Given the description of an element on the screen output the (x, y) to click on. 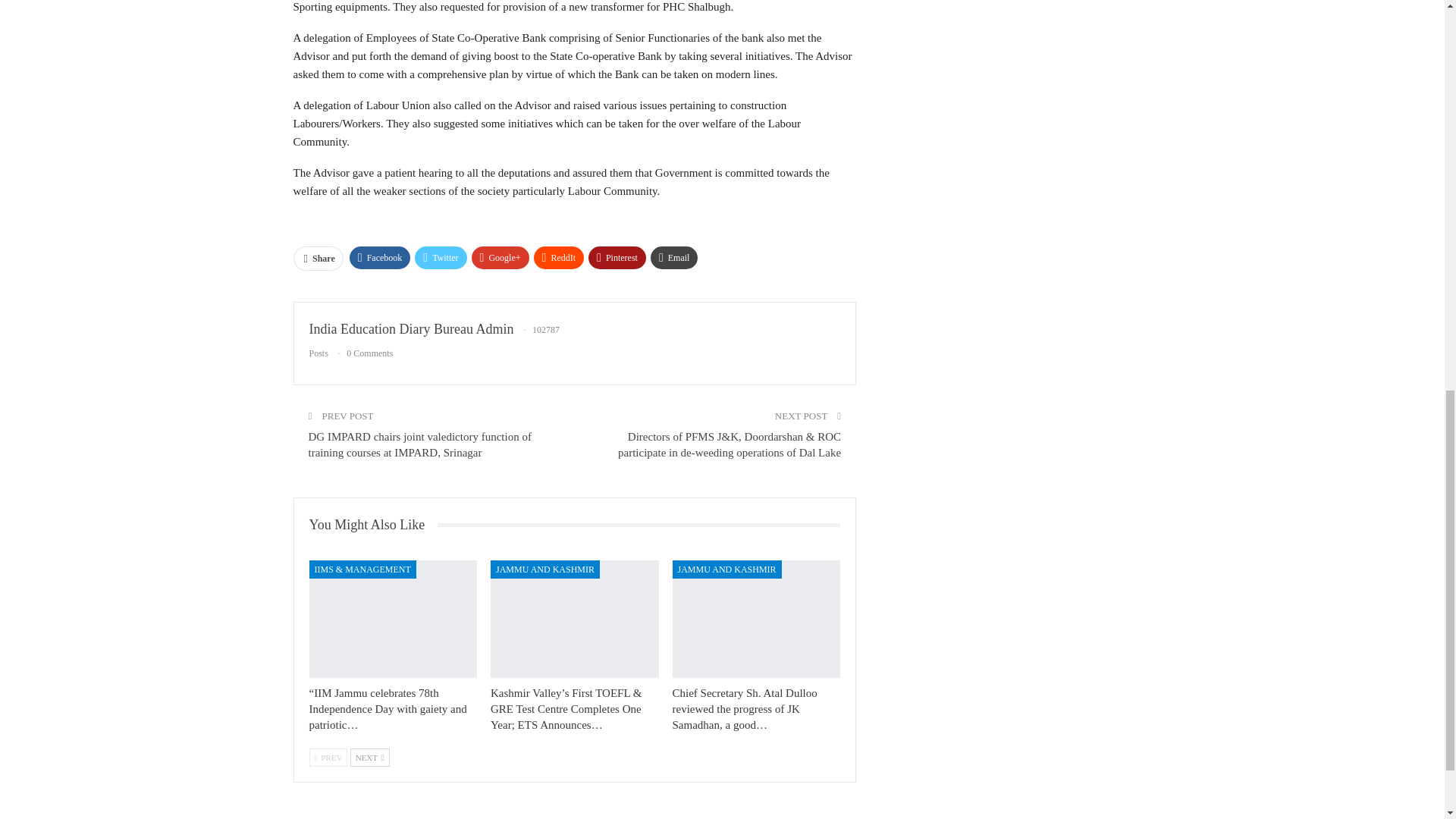
Previous (327, 757)
Next (370, 757)
